Given the description of an element on the screen output the (x, y) to click on. 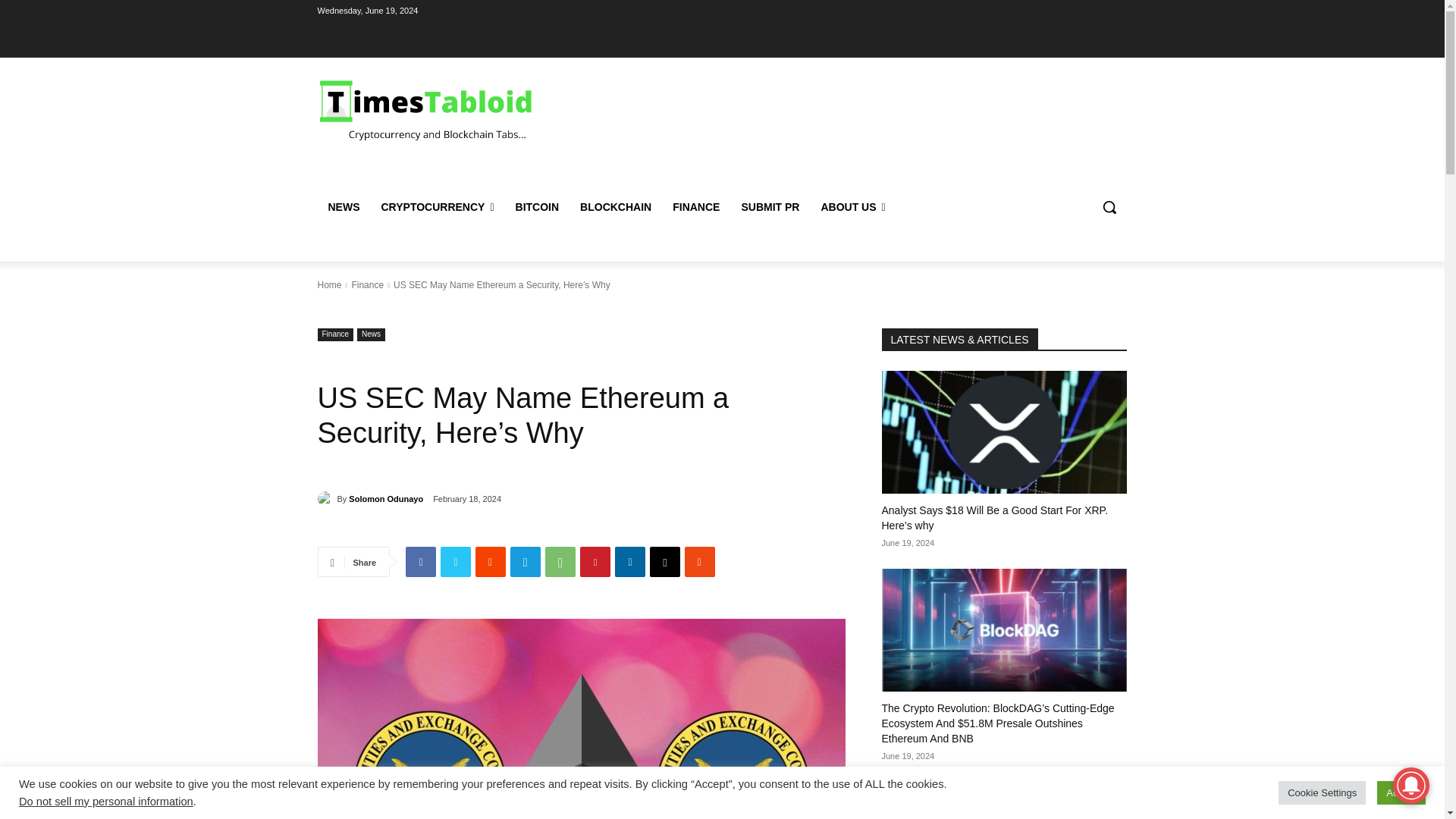
BLOCKCHAIN (615, 207)
BITCOIN (537, 207)
View all posts in Finance (367, 285)
Facebook (420, 562)
Pinterest (594, 562)
Linkedin (629, 562)
Telegram (525, 562)
CRYPTOCURRENCY (436, 207)
ReddIt (490, 562)
Twitter (455, 562)
FINANCE (696, 207)
Email (664, 562)
ABOUT US (852, 207)
WhatsApp (559, 562)
SUBMIT PR (769, 207)
